Given the description of an element on the screen output the (x, y) to click on. 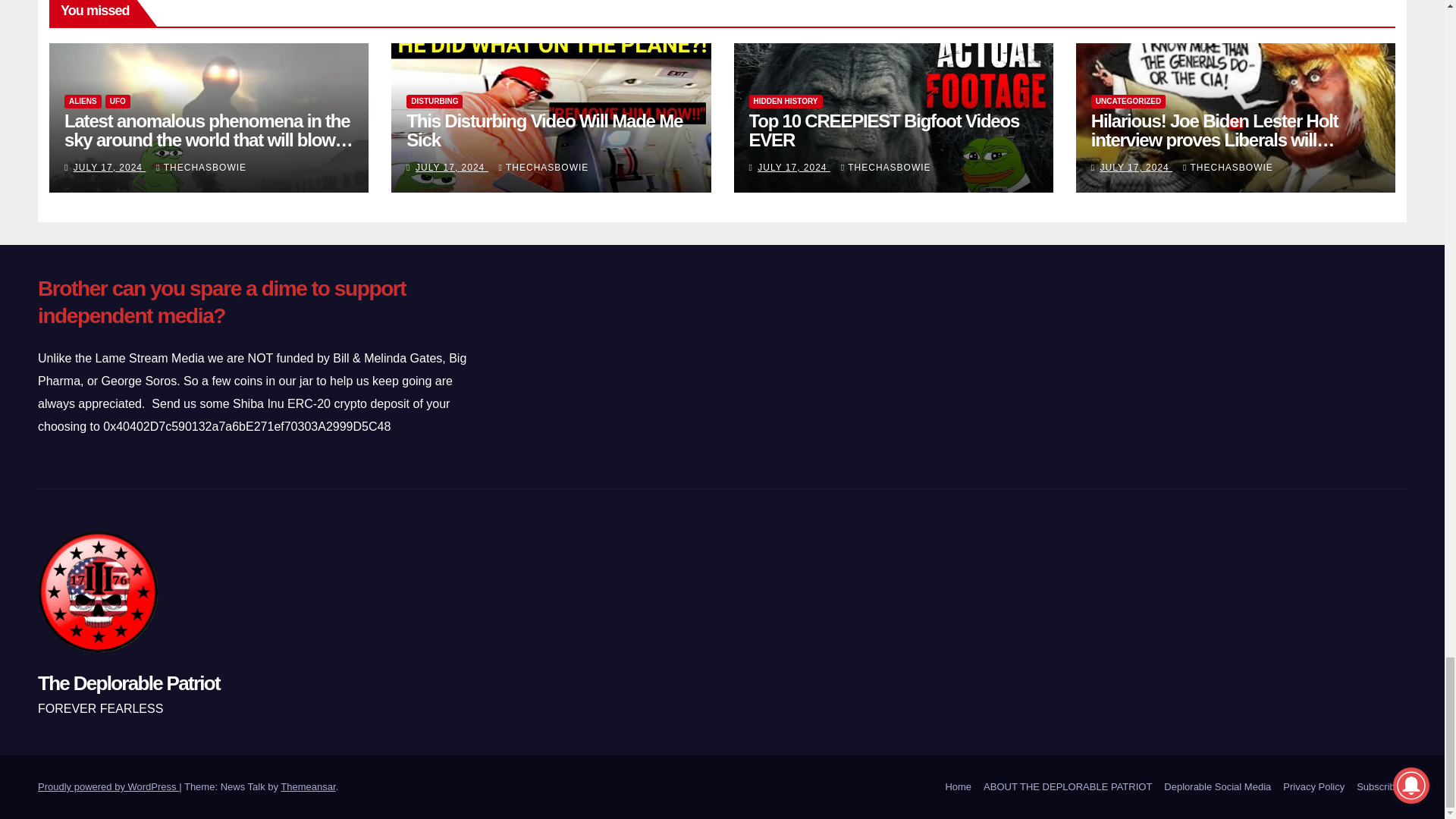
Permalink to: Top 10 CREEPIEST Bigfoot Videos EVER (884, 129)
Permalink to: This Disturbing Video Will Made Me Sick (544, 129)
Home (957, 786)
